Given the description of an element on the screen output the (x, y) to click on. 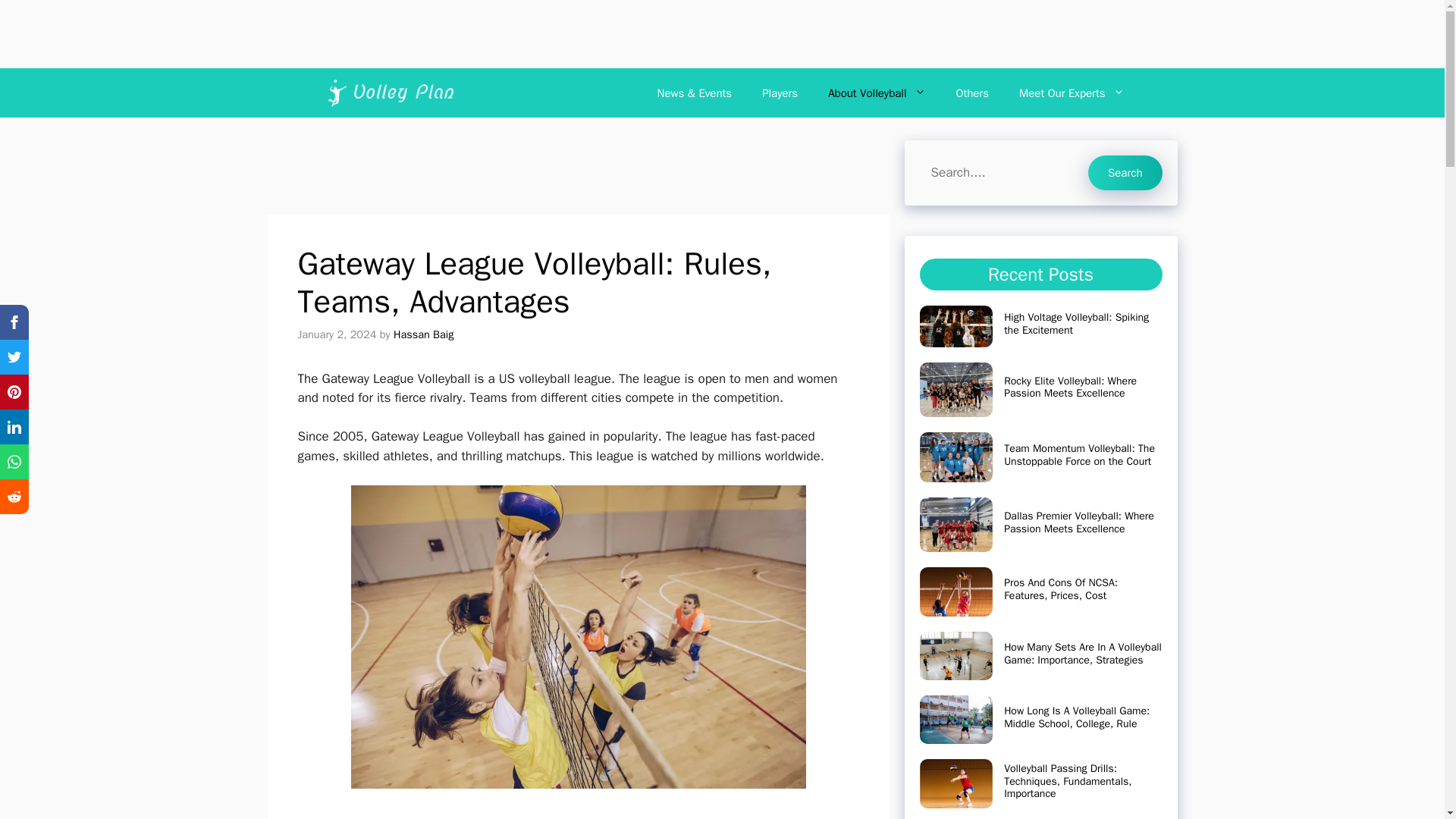
View all posts by Hassan Baig (423, 334)
Meet Our Experts (1072, 92)
Hassan Baig (423, 334)
Others (972, 92)
About Volleyball (876, 92)
Players (779, 92)
Volley Plan (389, 92)
Search (1124, 172)
High Voltage Volleyball: Spiking the Excitement (1076, 323)
